Given the description of an element on the screen output the (x, y) to click on. 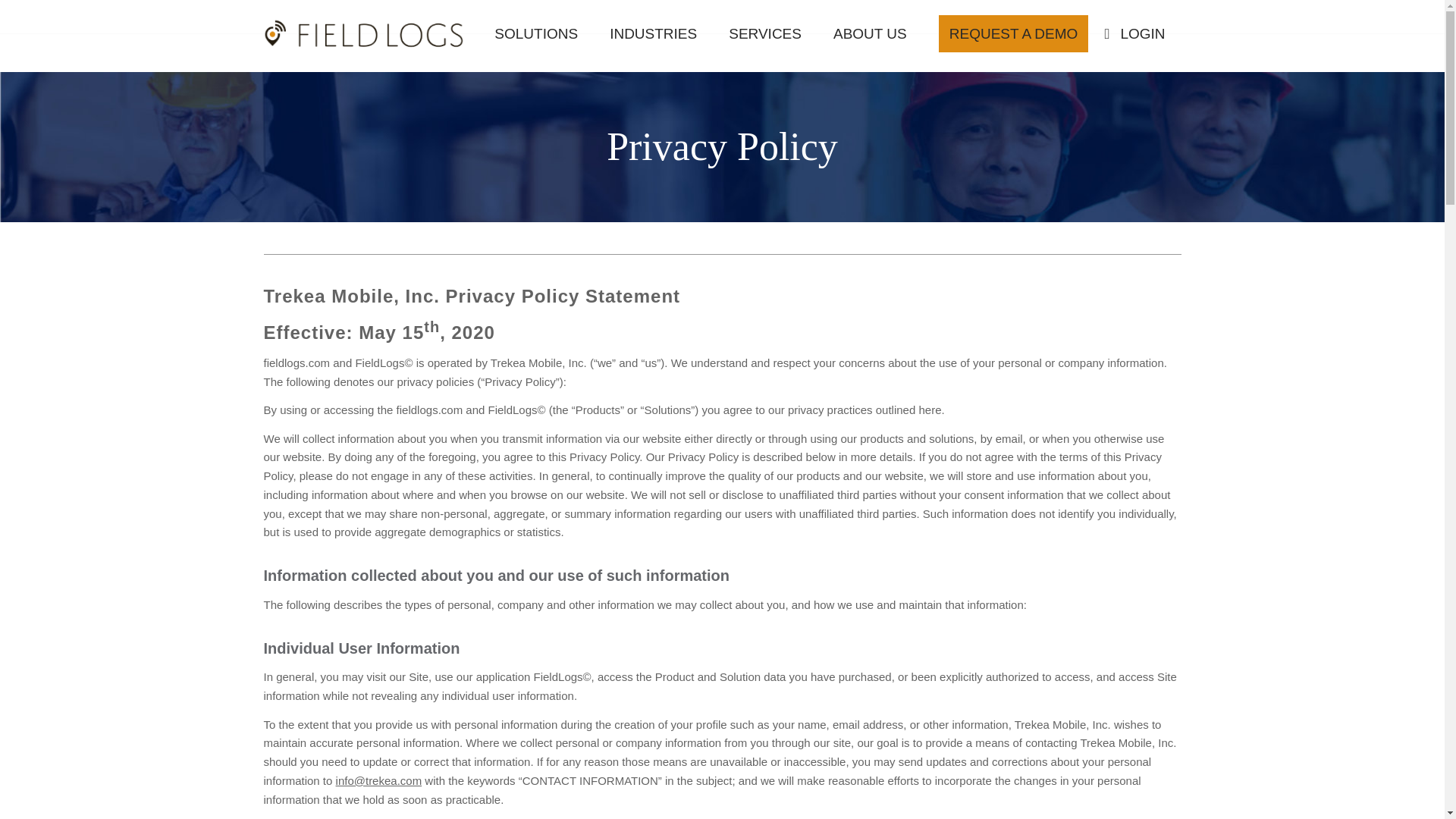
REQUEST A DEMO (1014, 33)
SERVICES (764, 33)
SOLUTIONS (536, 33)
ABOUT US (869, 33)
LOGIN (1141, 33)
INDUSTRIES (653, 33)
